Given the description of an element on the screen output the (x, y) to click on. 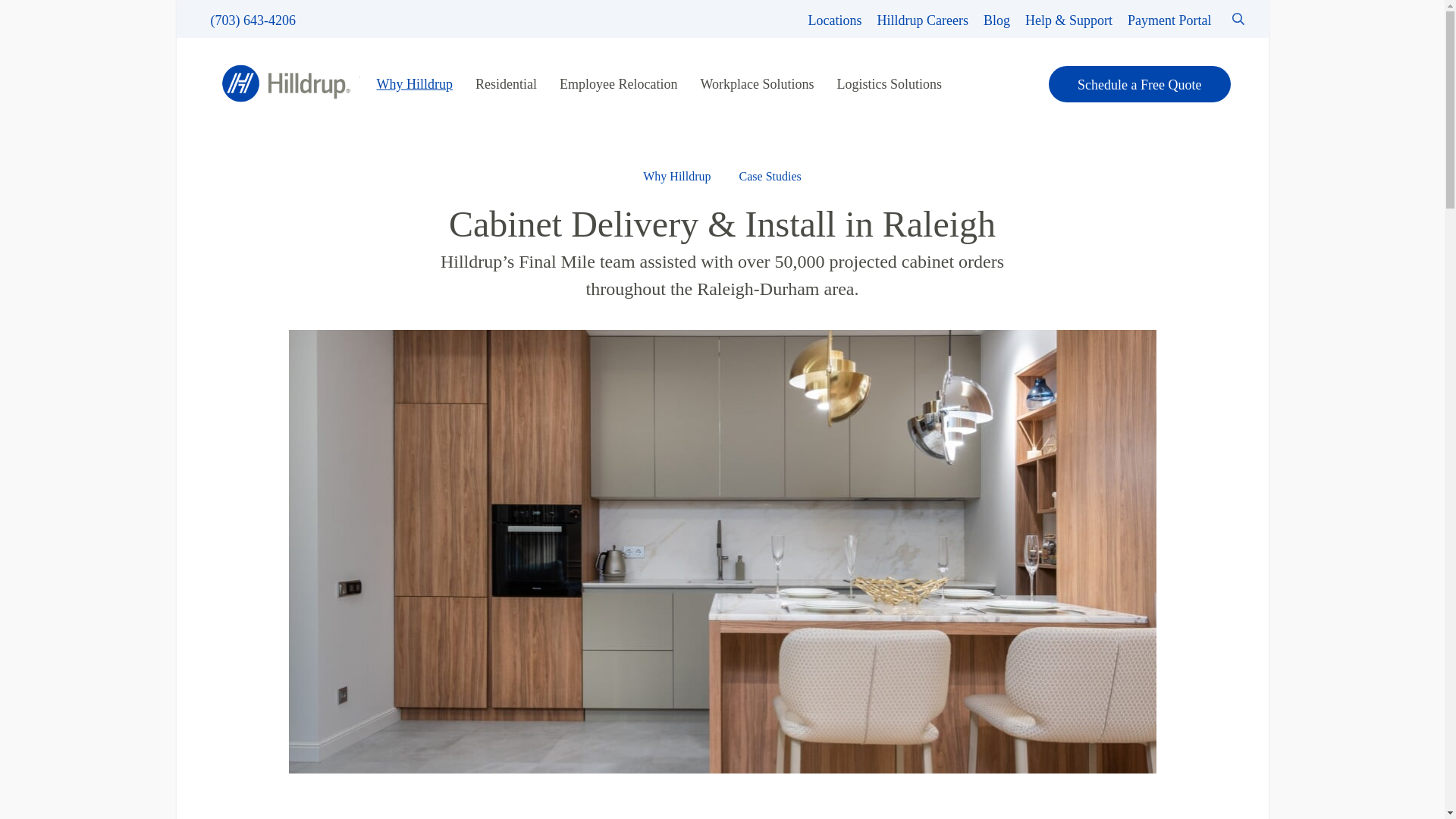
Search (50, 18)
